Given the description of an element on the screen output the (x, y) to click on. 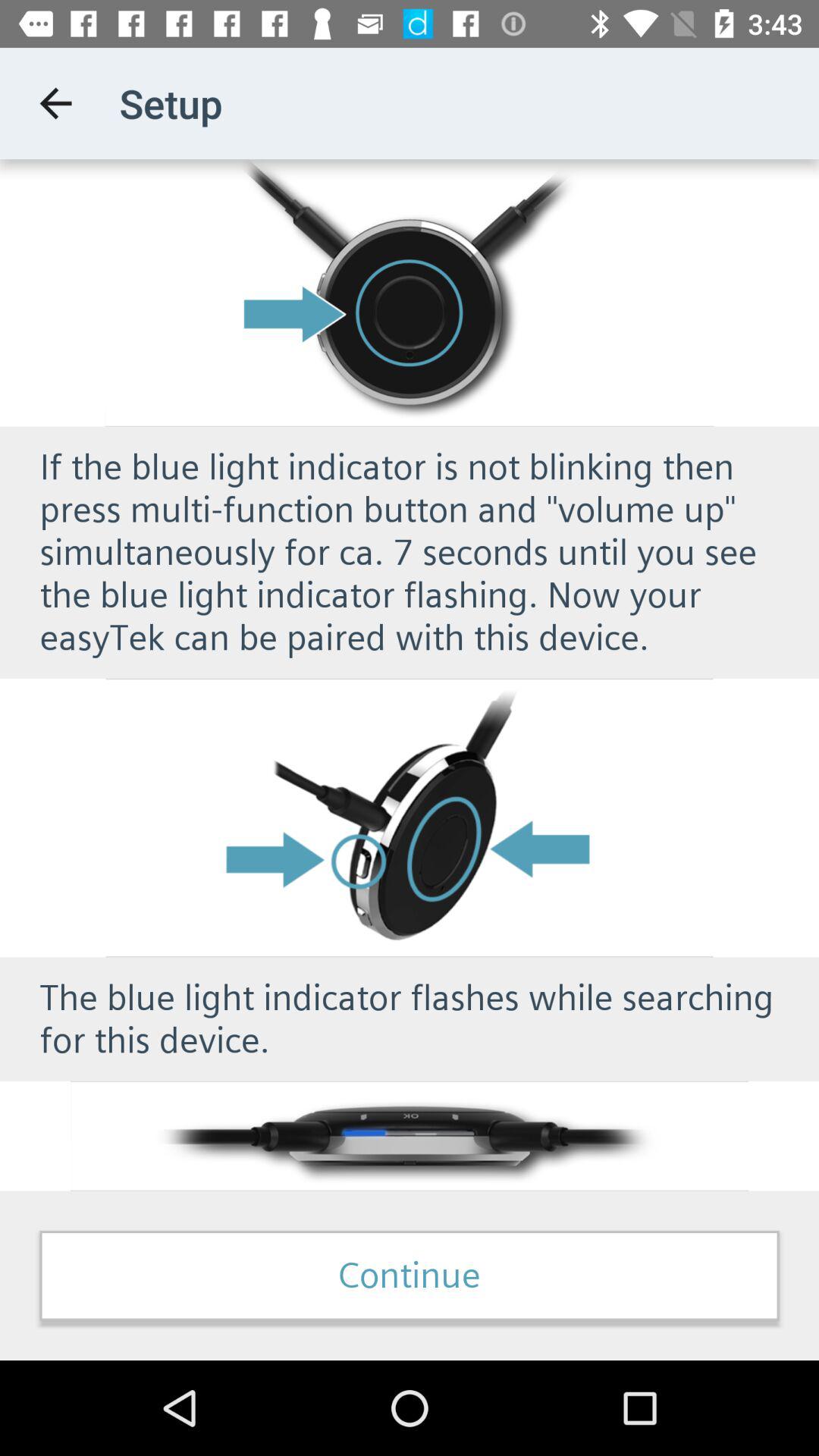
launch the continue item (409, 1275)
